Given the description of an element on the screen output the (x, y) to click on. 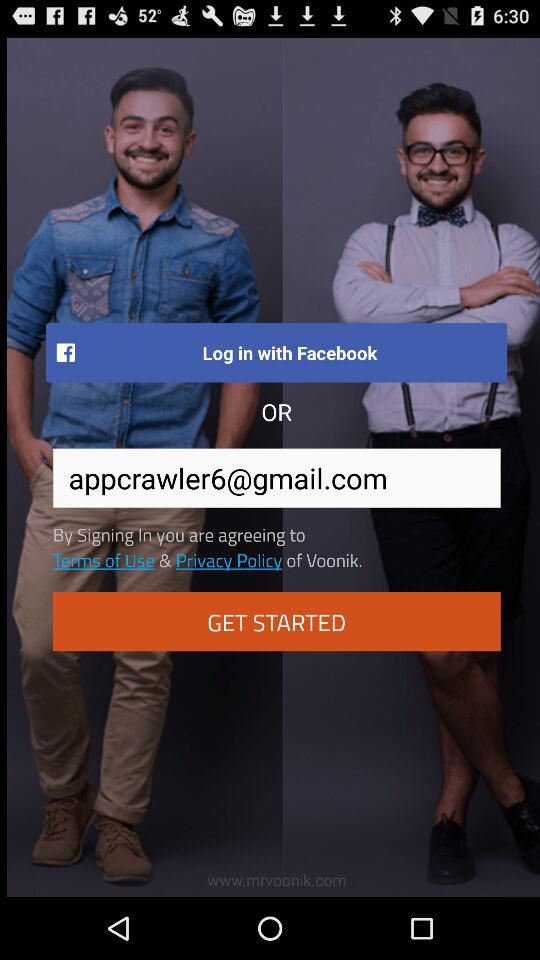
turn on privacy policy item (228, 559)
